Given the description of an element on the screen output the (x, y) to click on. 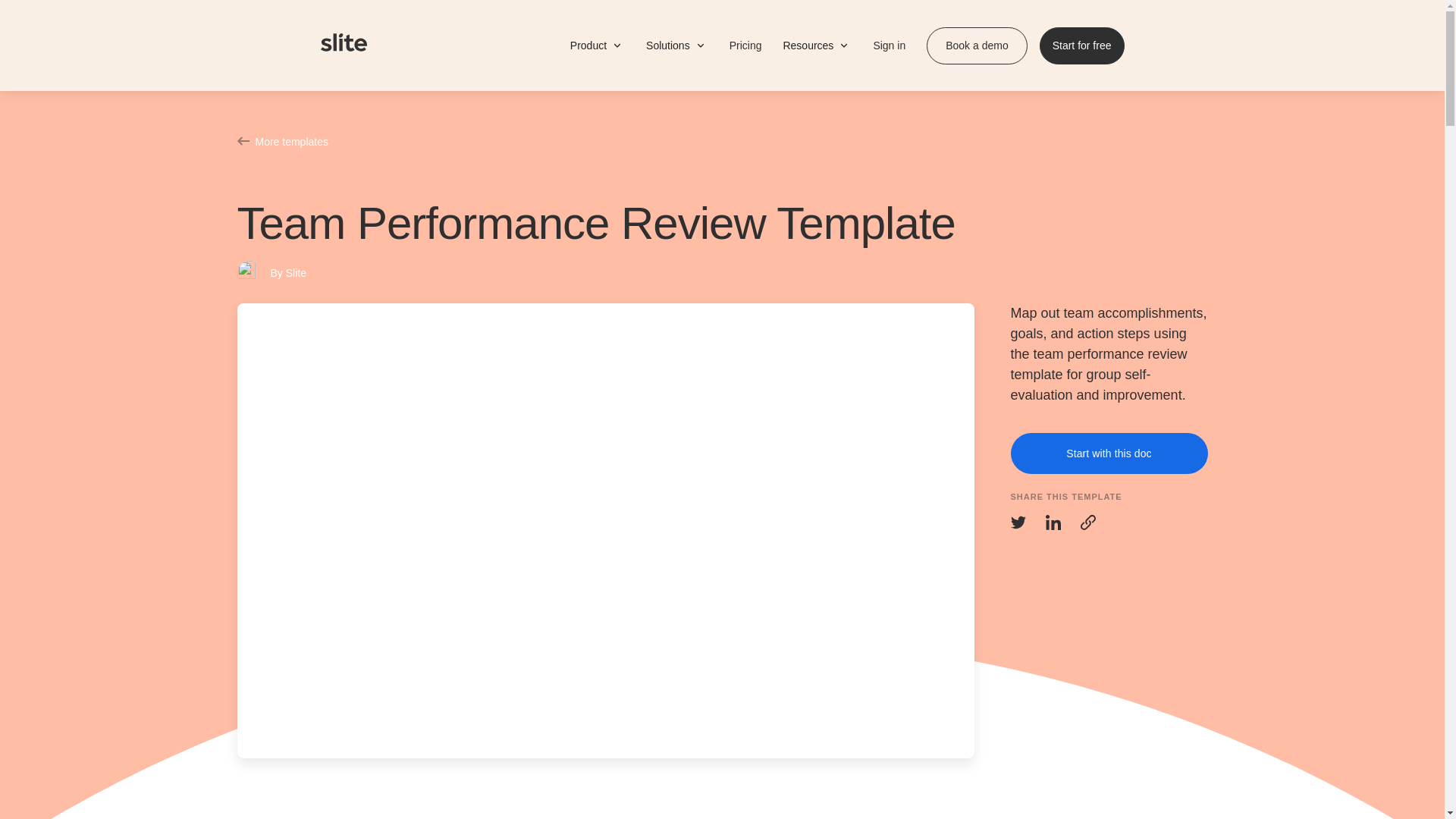
Start for free (1081, 45)
Pricing (744, 45)
Start with this doc (1108, 453)
More templates (721, 141)
Share on Twitter (1017, 522)
Share on LinkedIn (1052, 522)
Sign in (887, 44)
Book a demo (976, 45)
